Given the description of an element on the screen output the (x, y) to click on. 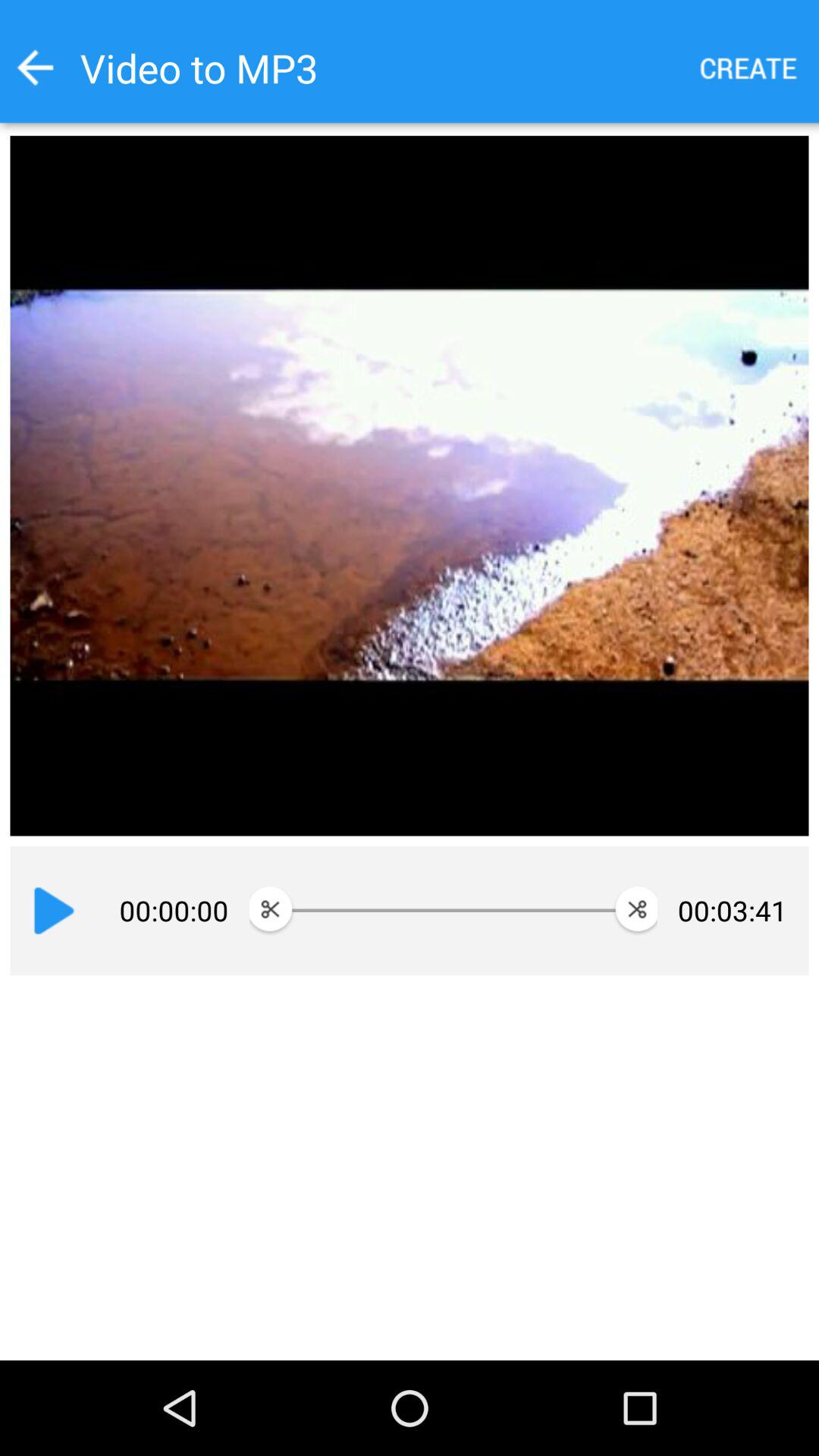
create (749, 67)
